Given the description of an element on the screen output the (x, y) to click on. 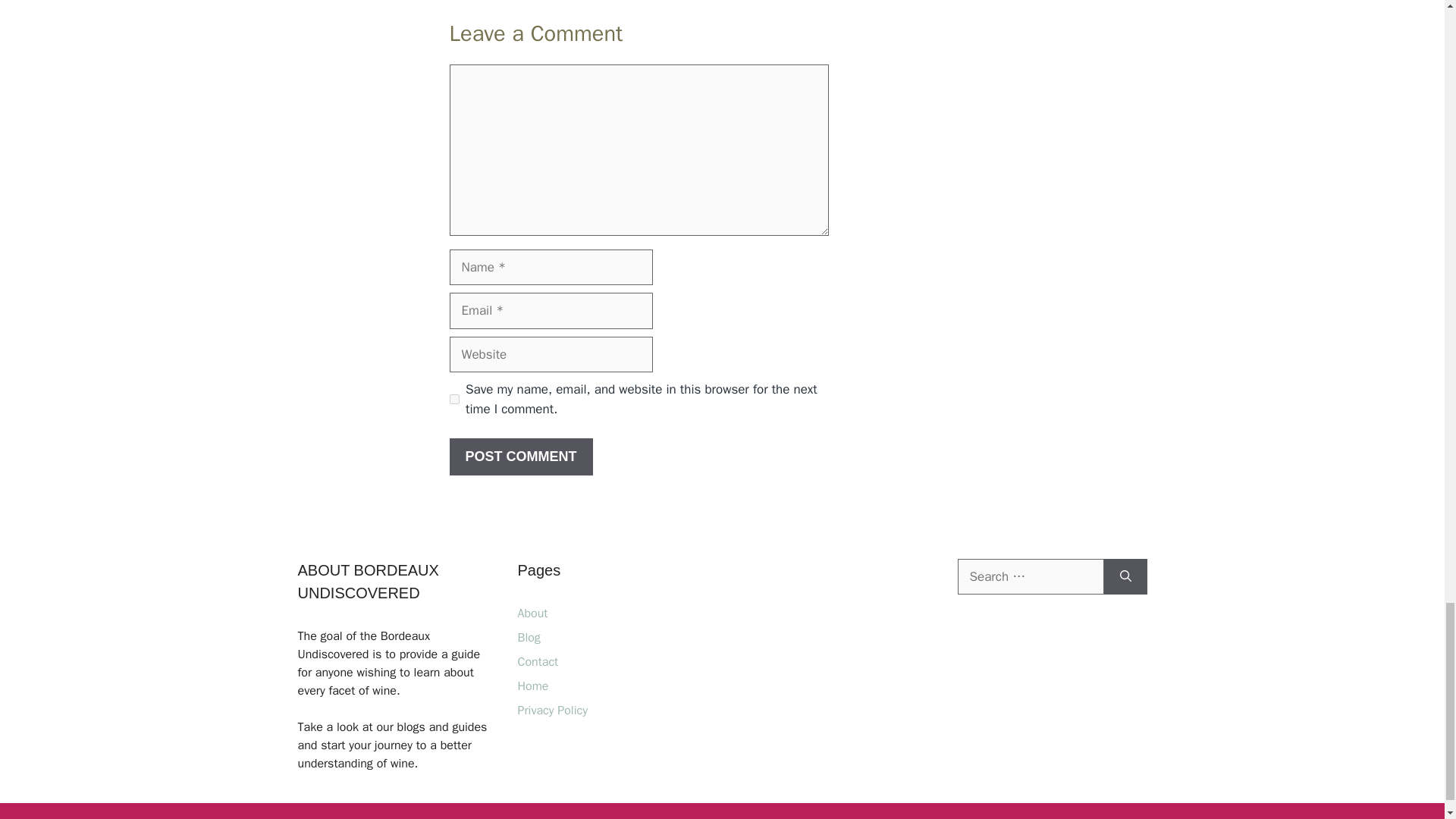
Contact (536, 661)
Home (532, 685)
Search for: (1029, 576)
Blog (528, 637)
About (531, 613)
yes (453, 398)
Privacy Policy (551, 710)
Post Comment (520, 456)
Post Comment (520, 456)
